Given the description of an element on the screen output the (x, y) to click on. 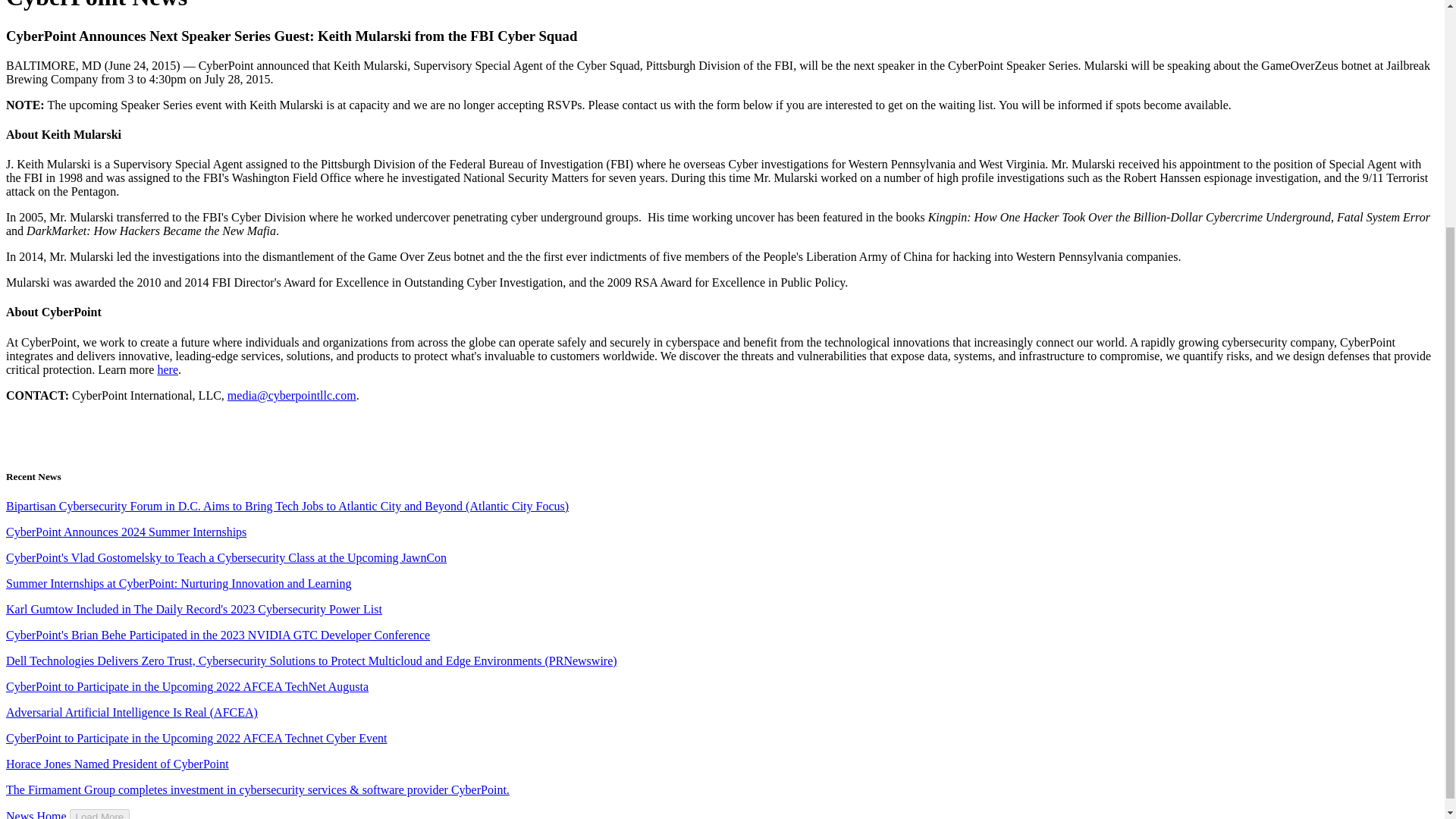
here (167, 369)
CyberPoint Announces 2024 Summer Internships (125, 531)
Horace Jones Named President of CyberPoint (116, 763)
